Given the description of an element on the screen output the (x, y) to click on. 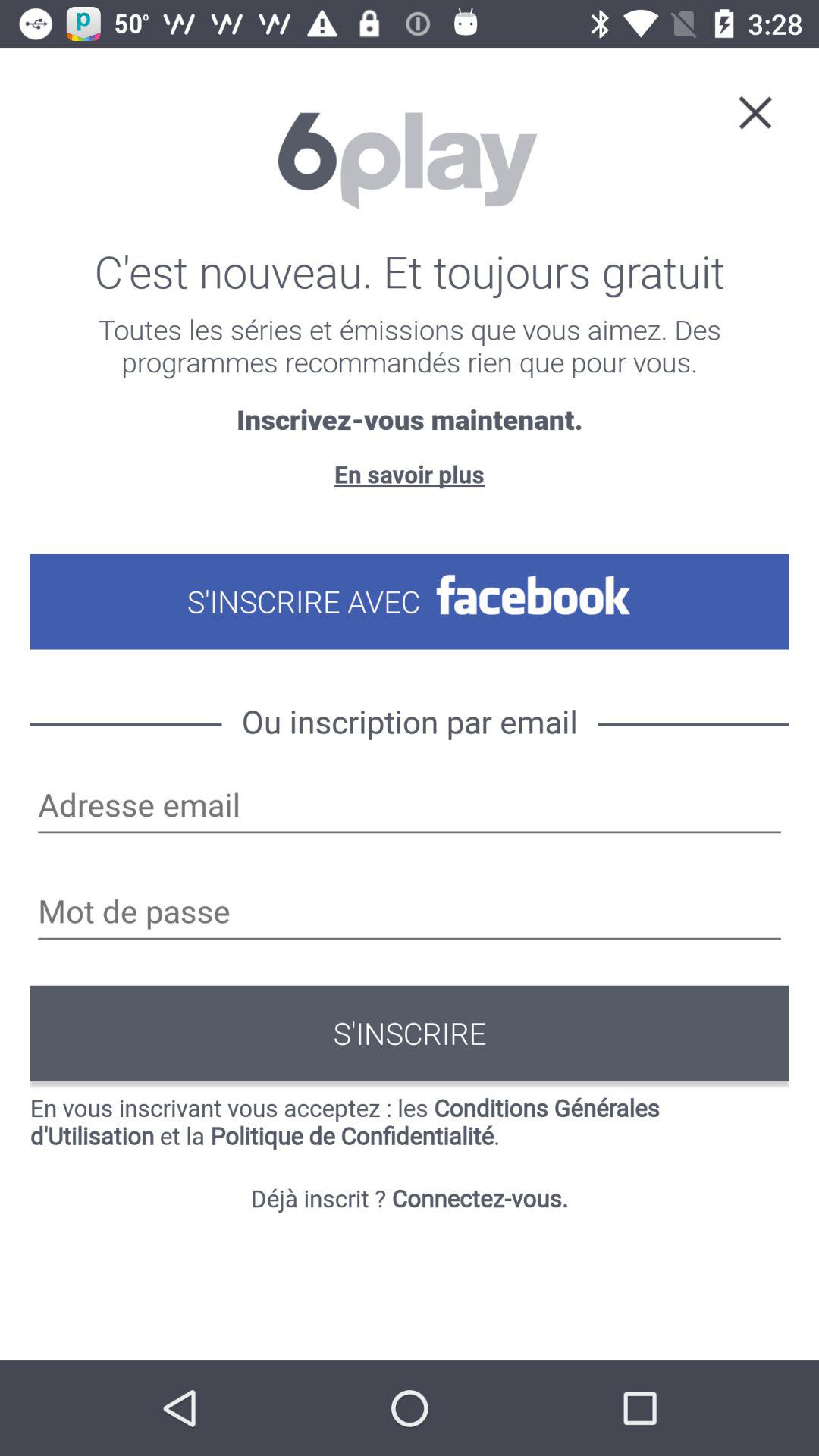
launch item above c est nouveau item (754, 111)
